Given the description of an element on the screen output the (x, y) to click on. 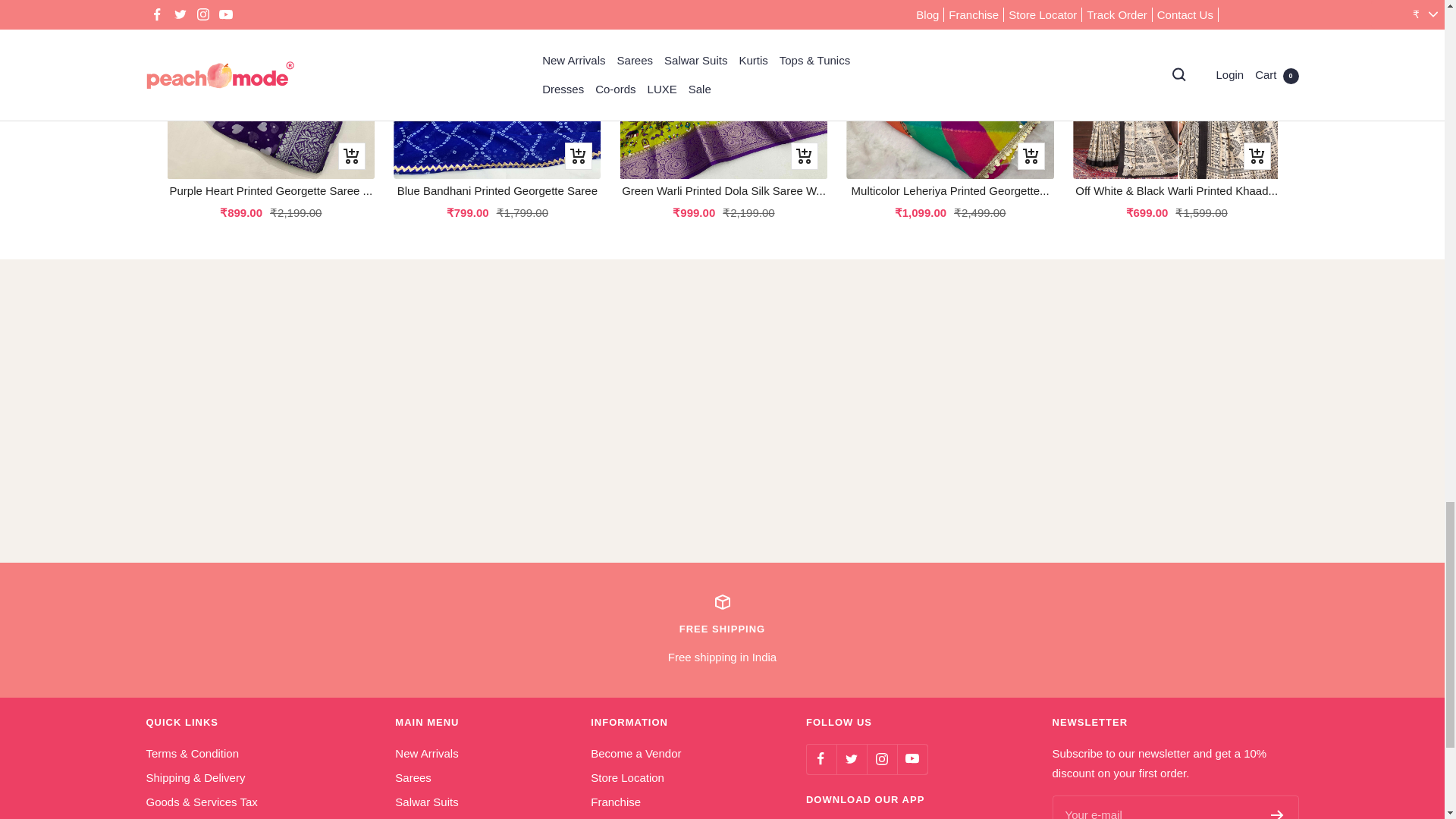
Register (721, 629)
